Given the description of an element on the screen output the (x, y) to click on. 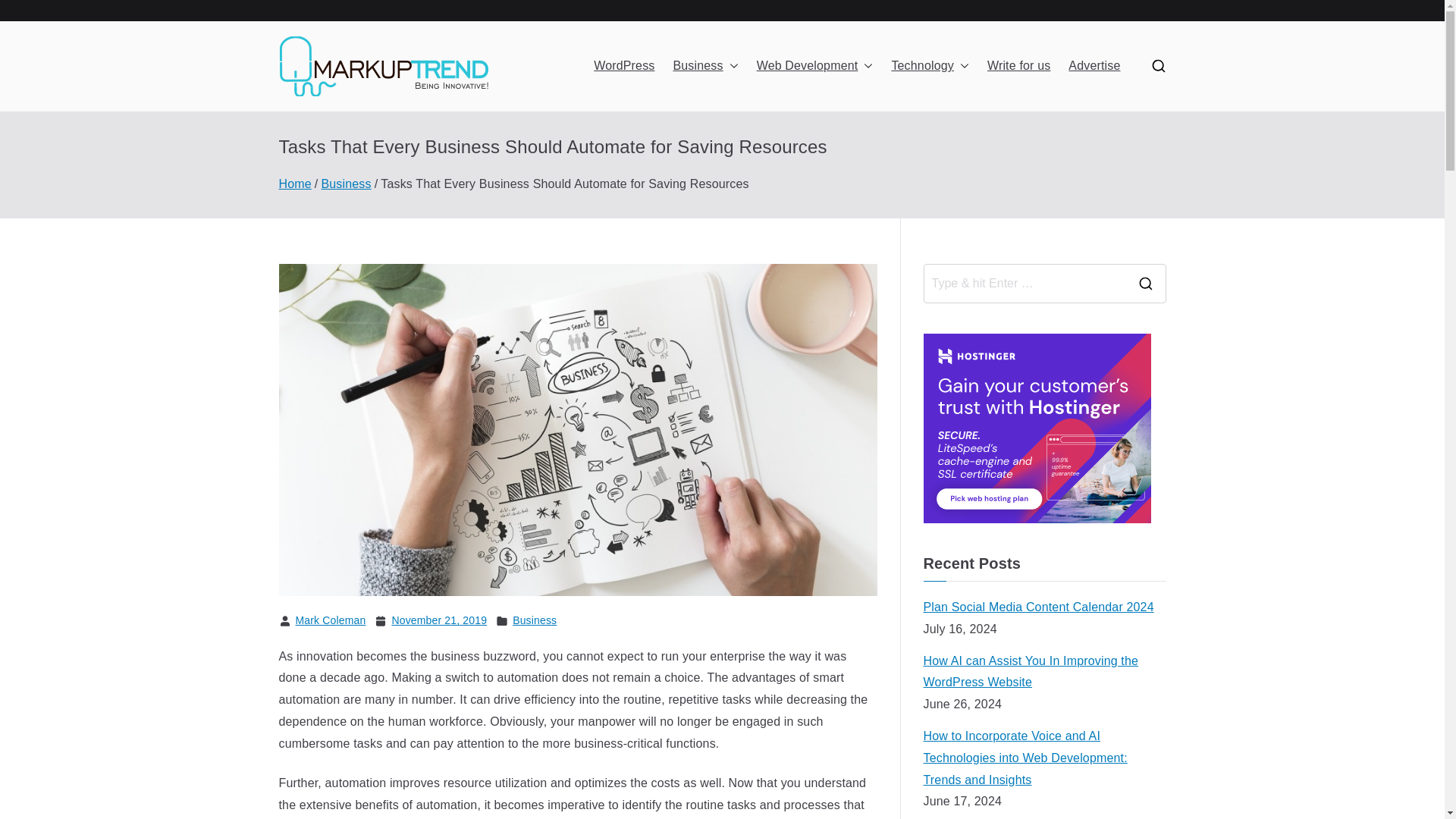
Home (295, 183)
Web Development (815, 65)
Search for: (1024, 283)
Business (705, 65)
WordPress (623, 65)
Business (534, 619)
Search (26, 12)
Advertise (1093, 65)
MarkupTrend (599, 86)
Write for us (1018, 65)
November 21, 2019 (438, 619)
Technology (930, 65)
Business (345, 183)
Mark Coleman (330, 620)
